Given the description of an element on the screen output the (x, y) to click on. 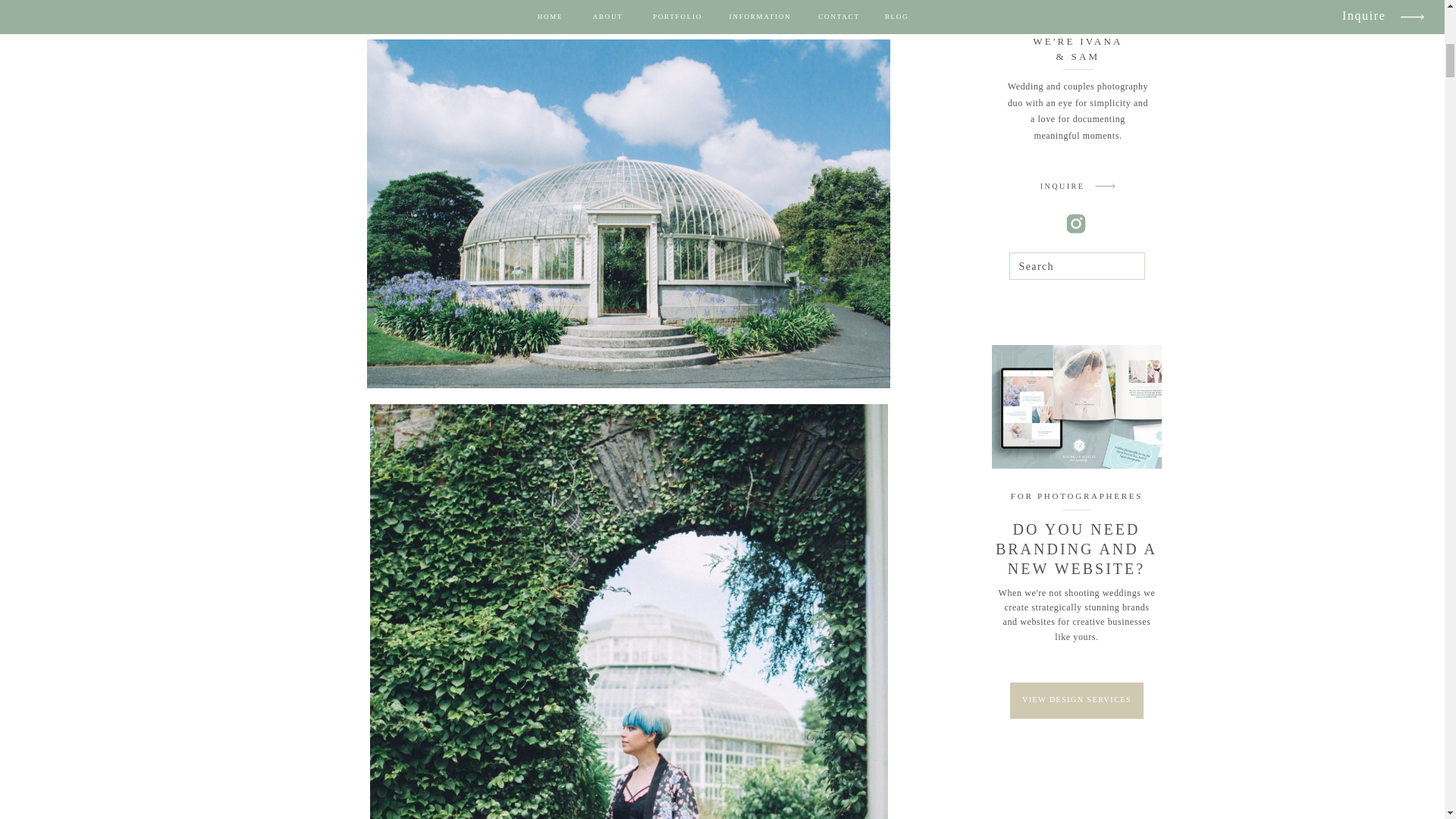
arrow (1104, 185)
INQUIRE (1062, 188)
arrow (1104, 185)
VIEW DESIGN SERVICES (1076, 699)
